Given the description of an element on the screen output the (x, y) to click on. 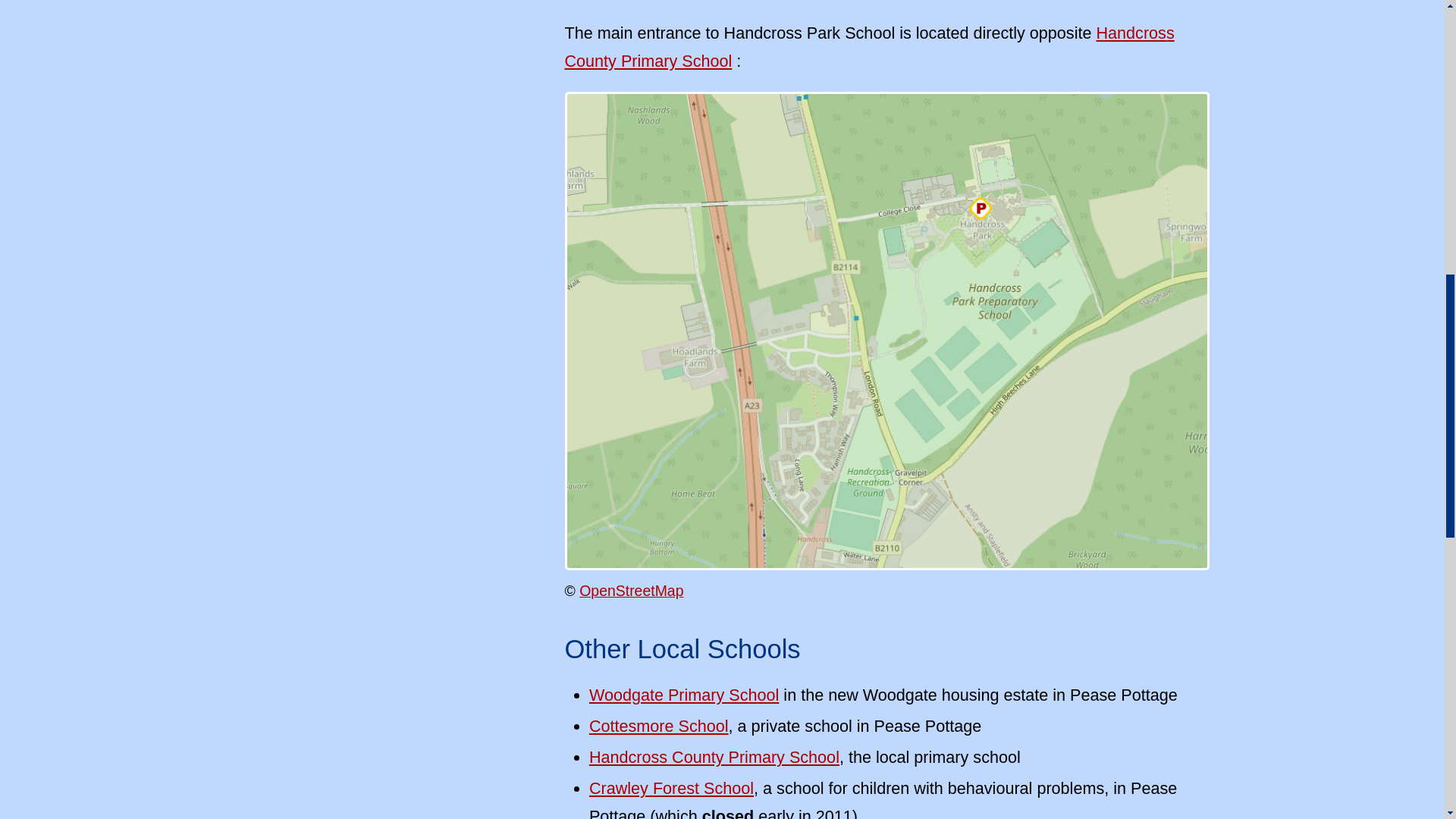
OpenStreetMap (630, 590)
Cottesmore School in Pease Pottage (659, 725)
Handcross County Primary School (868, 46)
Handcross County Primary School (714, 756)
Handcross County Primary School in Sussex (868, 46)
Crawley Forest School (671, 787)
Handcross County Primary School (714, 756)
Woodgate Primary School in Pease Pottage (683, 694)
Cottesmore School (659, 725)
Pease Pottage on Open Street Map (630, 590)
